Given the description of an element on the screen output the (x, y) to click on. 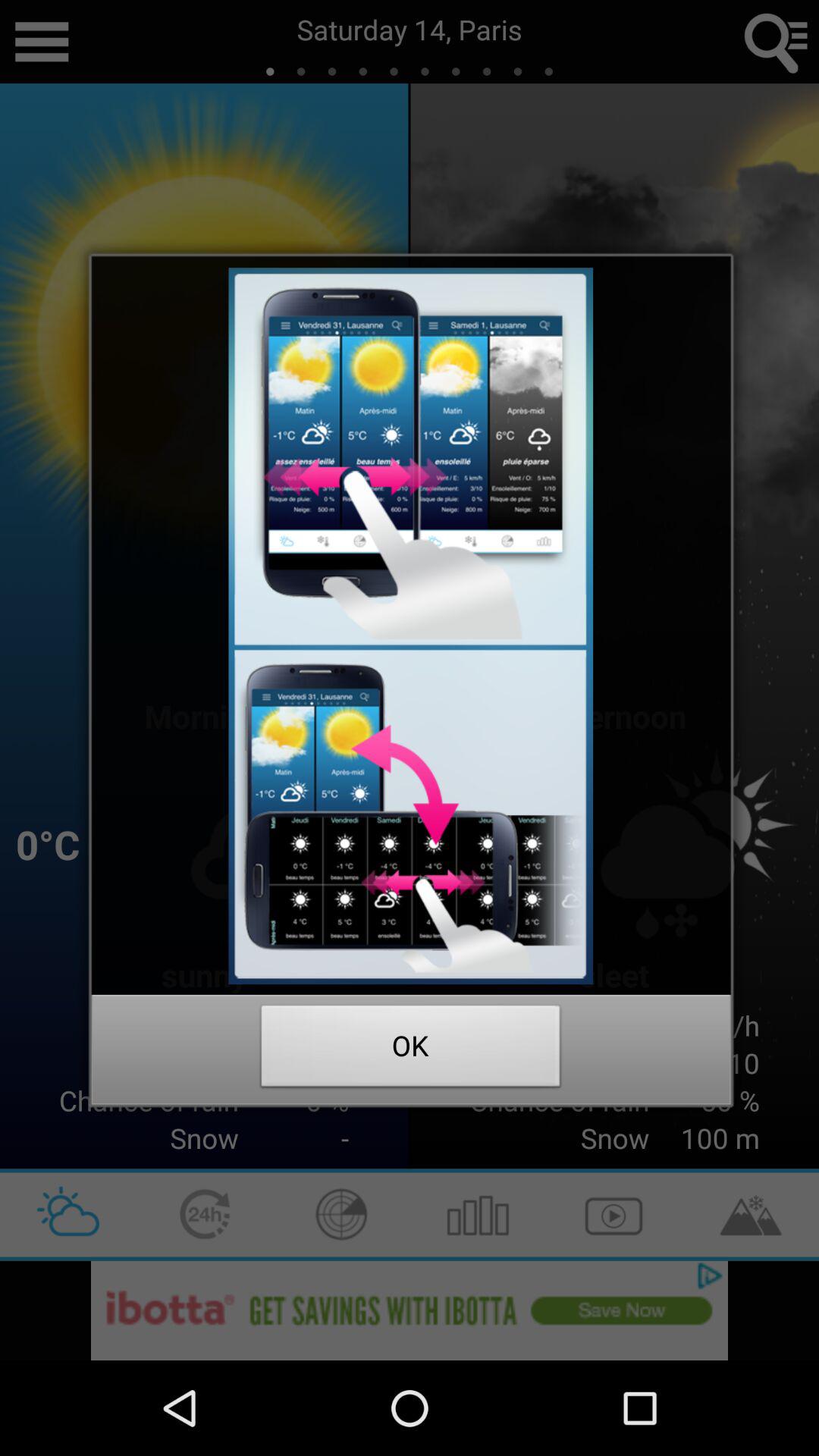
tap ok (410, 1050)
